Given the description of an element on the screen output the (x, y) to click on. 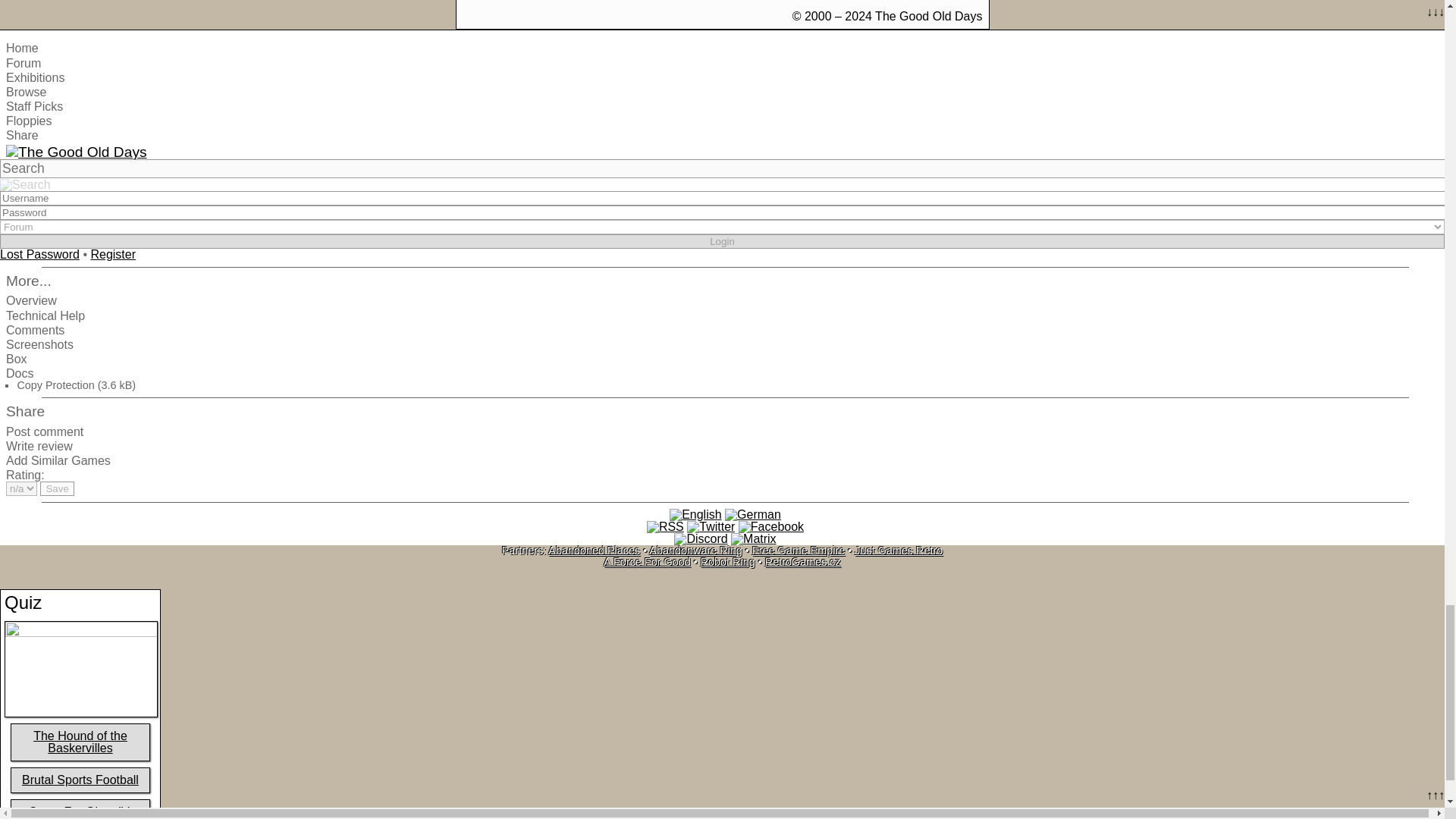
Twitter (711, 526)
Staff Picks (33, 106)
Discord (700, 539)
RSS (665, 526)
Home (22, 47)
Matrix (753, 539)
The Good Old Days (76, 151)
Floppies (27, 120)
Facebook (770, 526)
Save (57, 488)
